Given the description of an element on the screen output the (x, y) to click on. 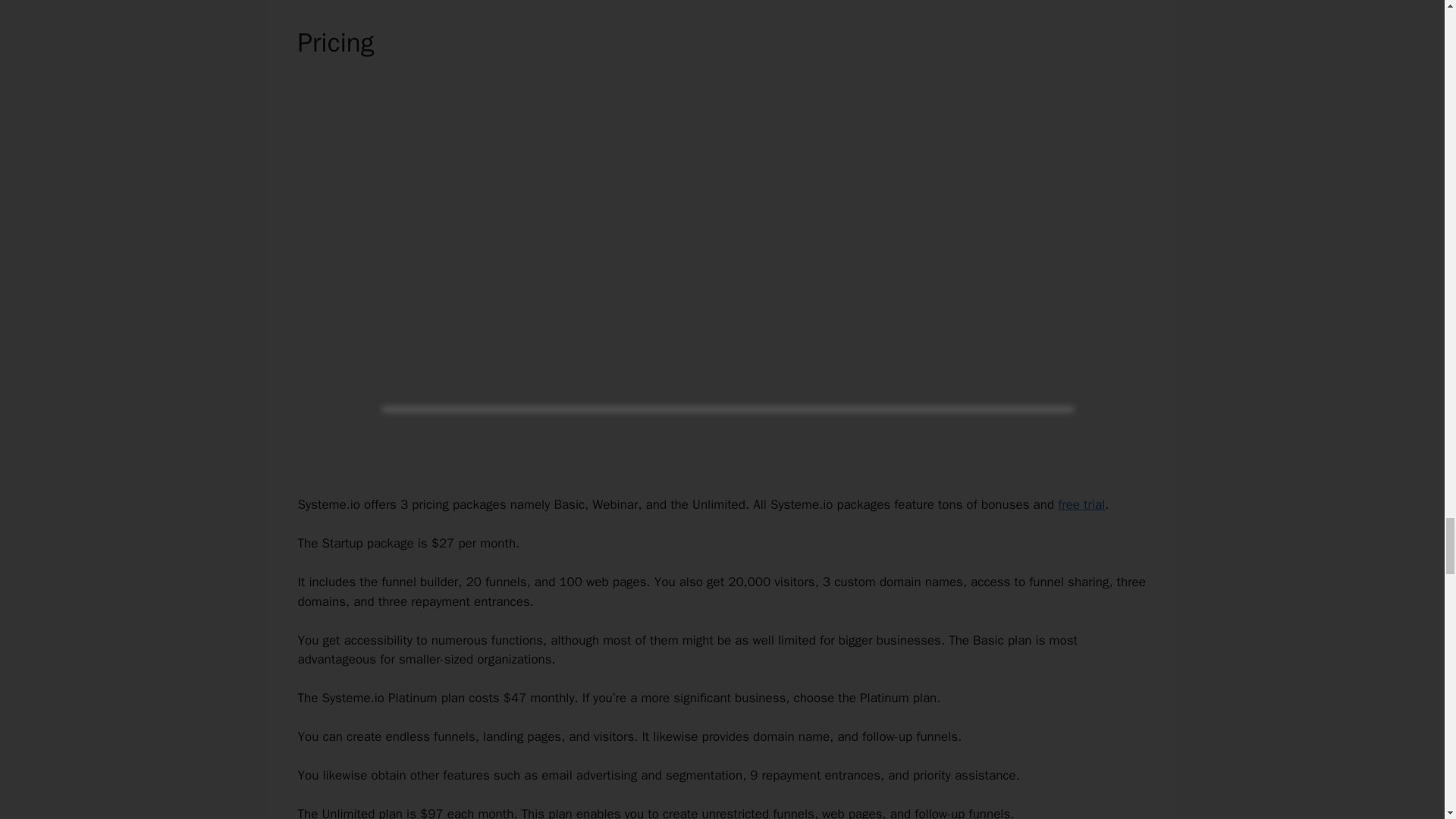
free trial (1081, 504)
